Given the description of an element on the screen output the (x, y) to click on. 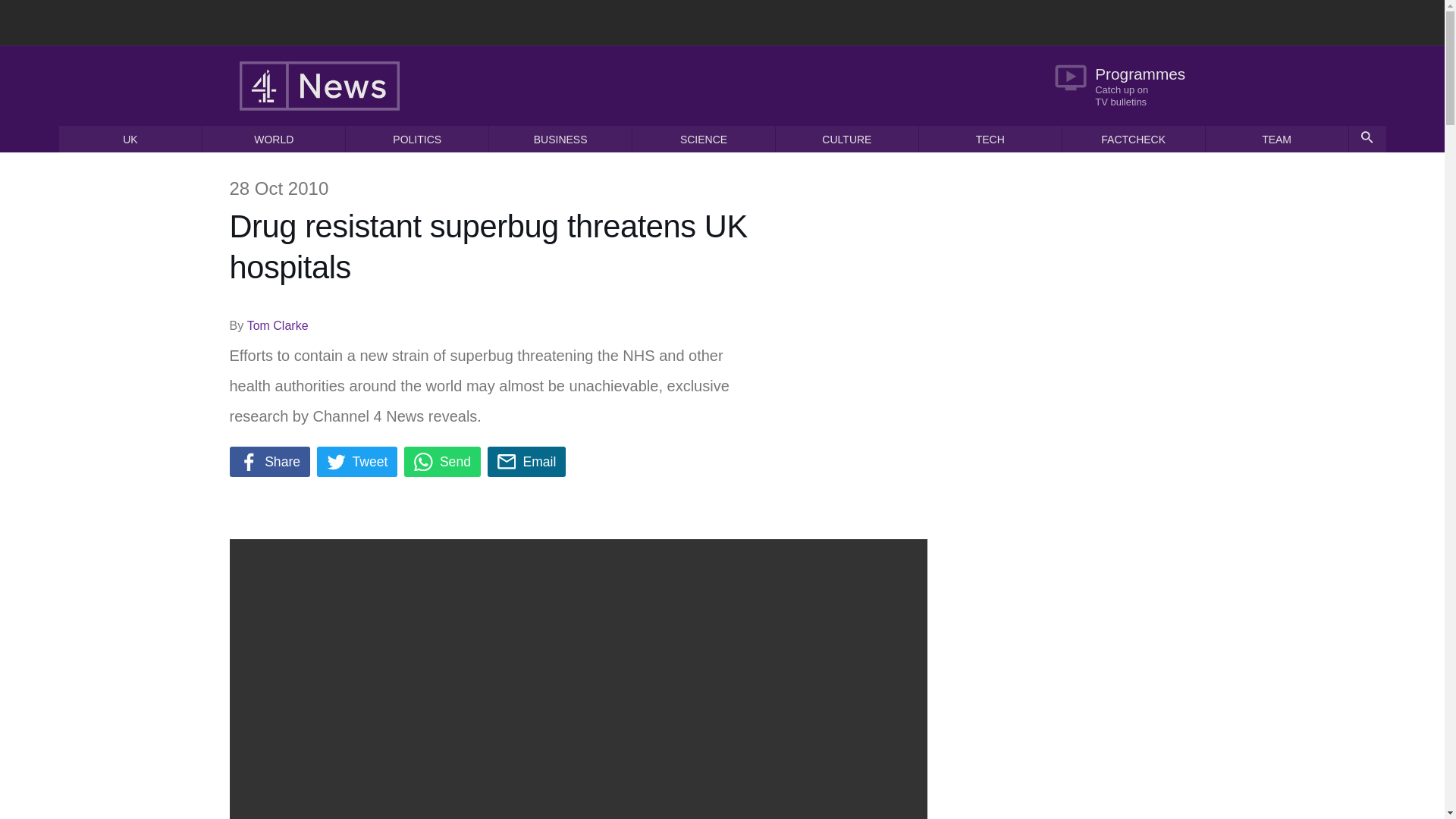
Posts by Tom Clarke (277, 325)
News team (1276, 139)
WORLD (273, 139)
Tweet (357, 461)
BUSINESS (560, 139)
Science news (702, 139)
FACTCHECK (1133, 139)
World news (273, 139)
TECH (989, 139)
TEAM (1276, 139)
Politics news (416, 139)
Send (442, 461)
Tech news (989, 139)
Share (269, 461)
SCIENCE (702, 139)
